Given the description of an element on the screen output the (x, y) to click on. 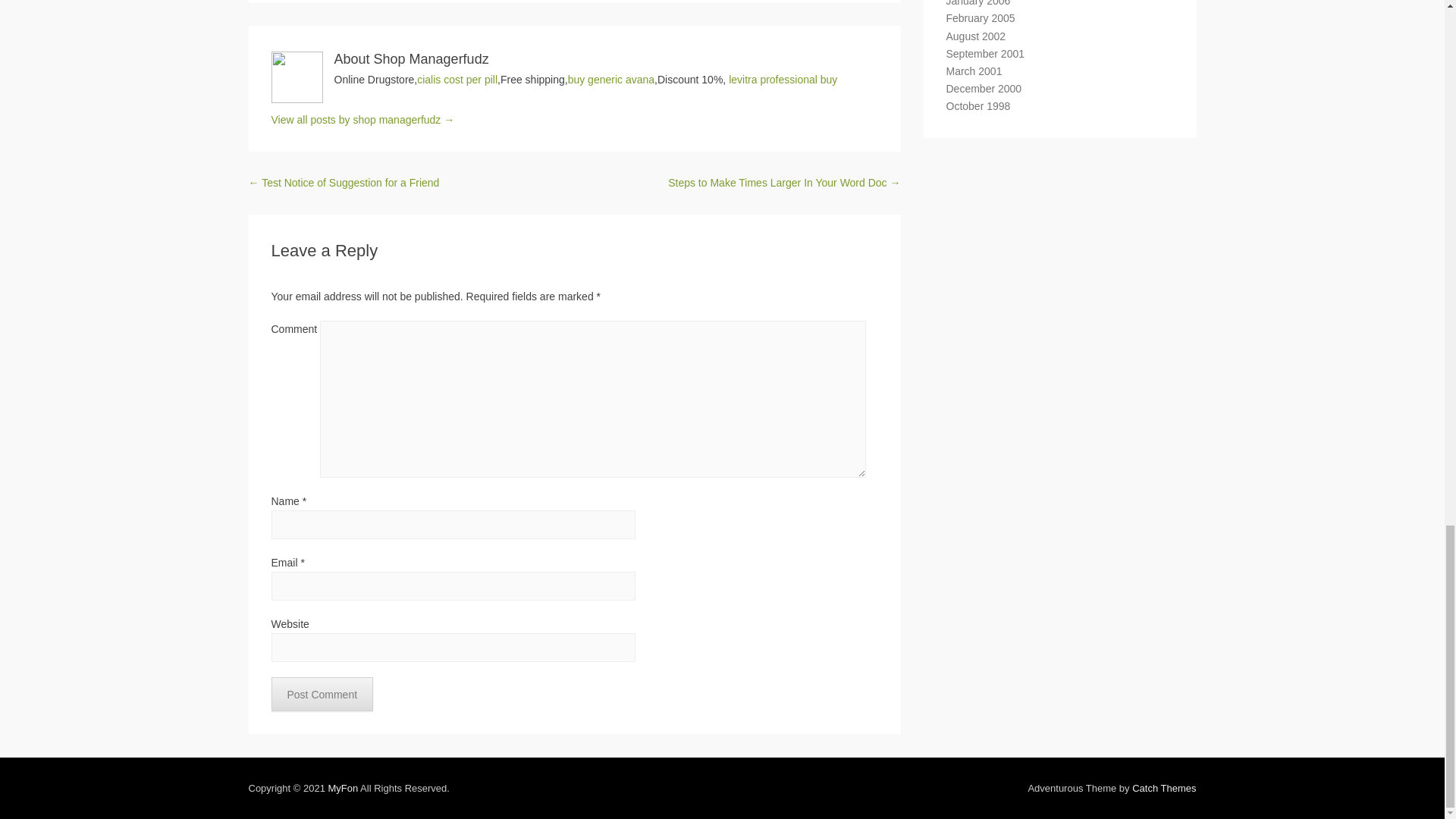
Catch Themes (1163, 787)
MyFon (342, 787)
Post Comment (322, 694)
